Given the description of an element on the screen output the (x, y) to click on. 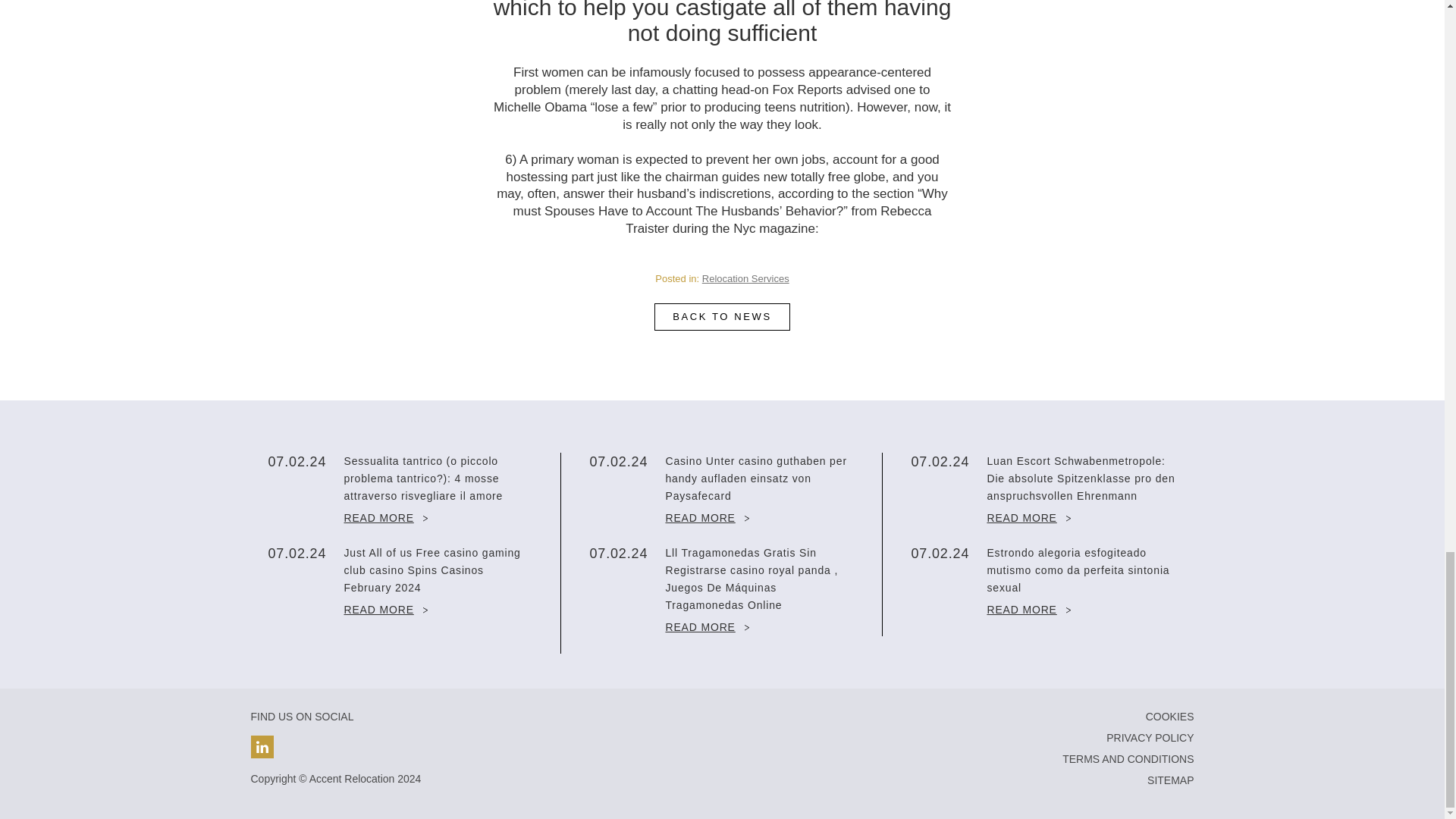
Find Garrington on LinkedIn (261, 746)
